Given the description of an element on the screen output the (x, y) to click on. 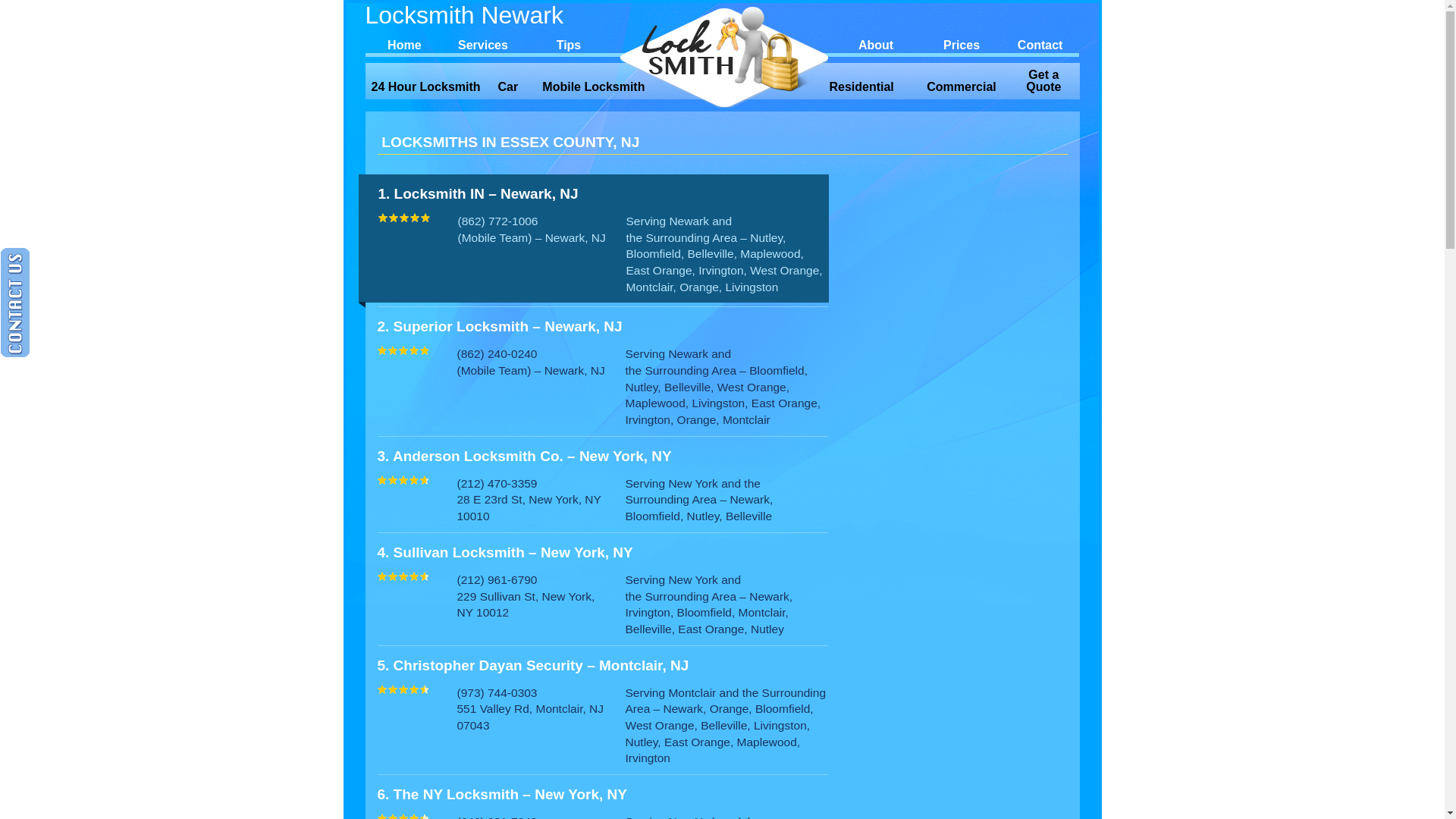
Mobile Locksmith Element type: text (593, 87)
Prices Element type: text (961, 43)
Contact Element type: text (1040, 43)
Tips Element type: text (568, 43)
Residential Element type: text (860, 87)
(212) 961-6790 Element type: text (496, 579)
(862) 772-1006 Element type: text (498, 220)
Get a Quote Element type: text (1043, 80)
(212) 470-3359 Element type: text (496, 482)
Locksmith Newark, New Jersey Element type: hover (722, 56)
(862) 240-0240 Element type: text (496, 353)
Commercial Element type: text (961, 87)
Locksmith Newark Element type: text (490, 15)
Car Element type: text (508, 87)
(973) 744-0303 Element type: text (496, 692)
Services Element type: text (482, 43)
Home Element type: text (404, 43)
24 Hour Locksmith Element type: text (425, 87)
About Element type: text (875, 43)
